Given the description of an element on the screen output the (x, y) to click on. 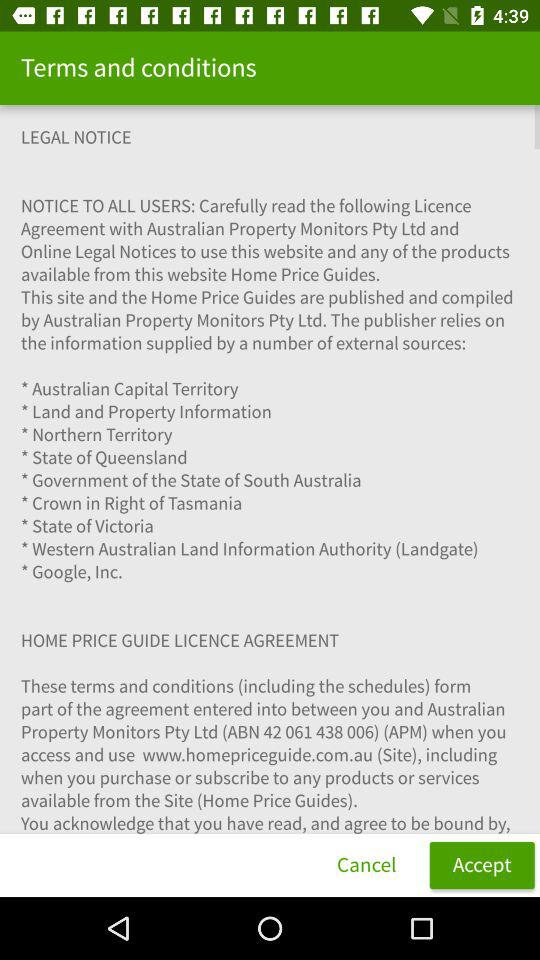
select cancel (366, 864)
